Given the description of an element on the screen output the (x, y) to click on. 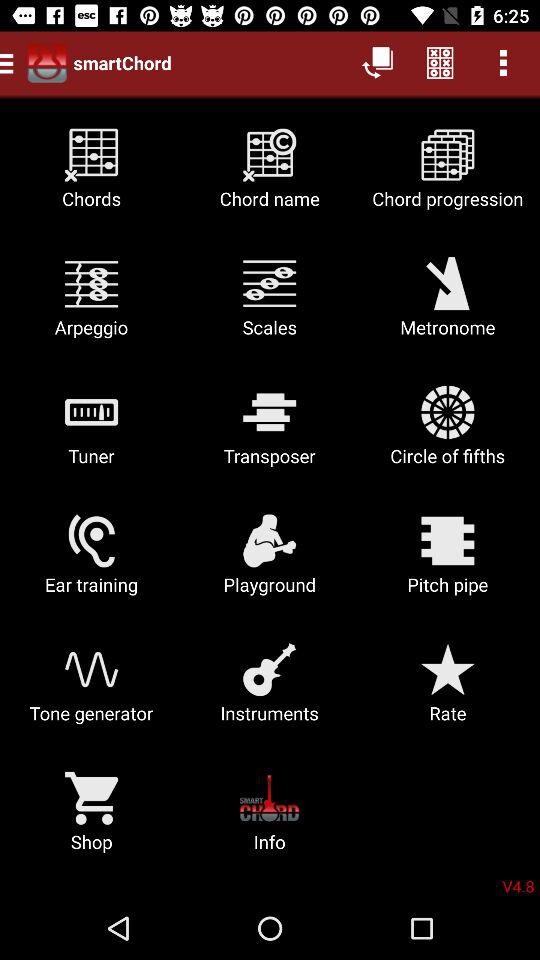
swipe to the tuner (91, 432)
